Given the description of an element on the screen output the (x, y) to click on. 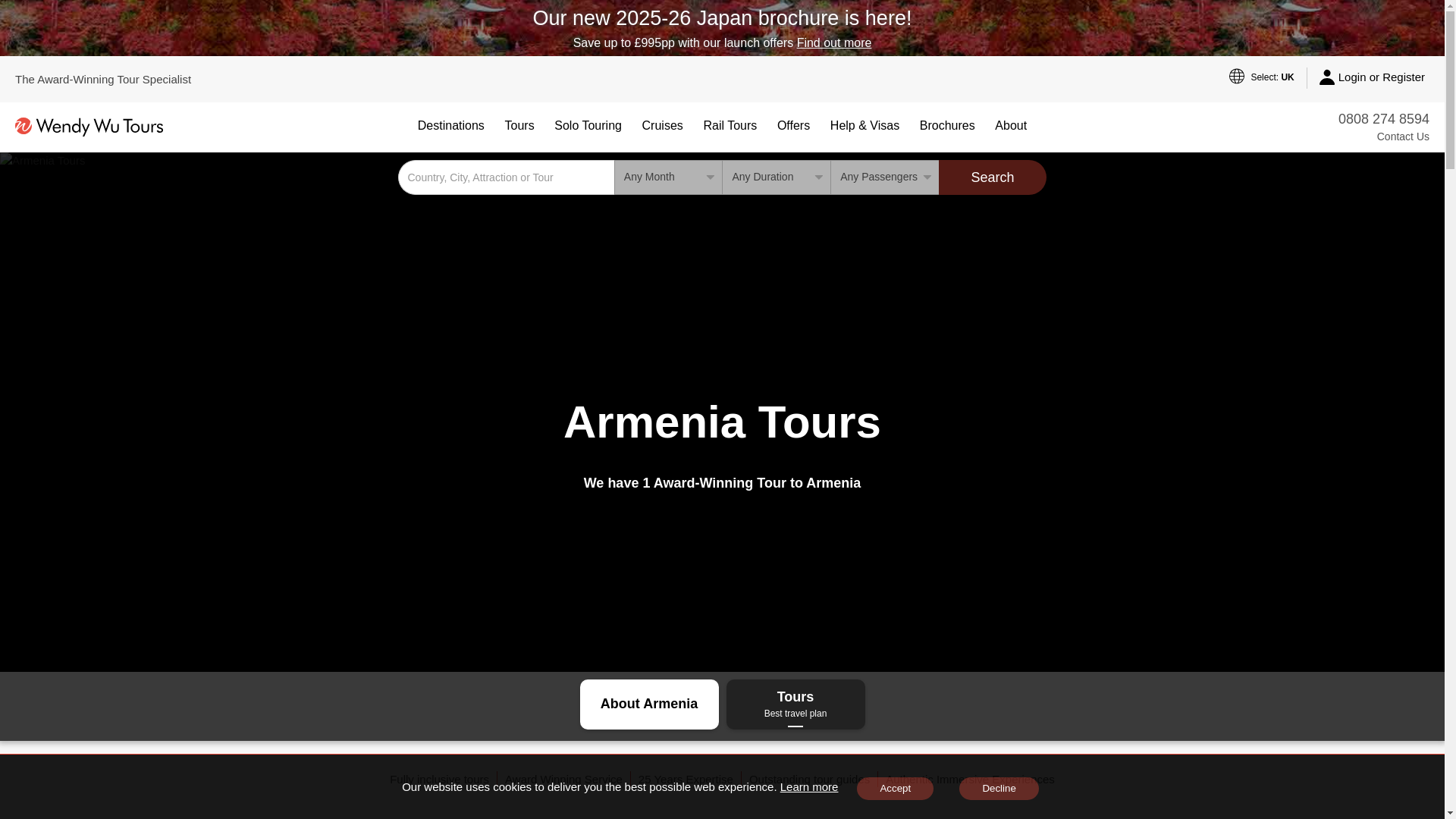
Destinations (451, 125)
Select: UK (1261, 77)
Contact Us (1383, 136)
0808 274 8594 (1383, 118)
Login or Register (1371, 77)
